Given the description of an element on the screen output the (x, y) to click on. 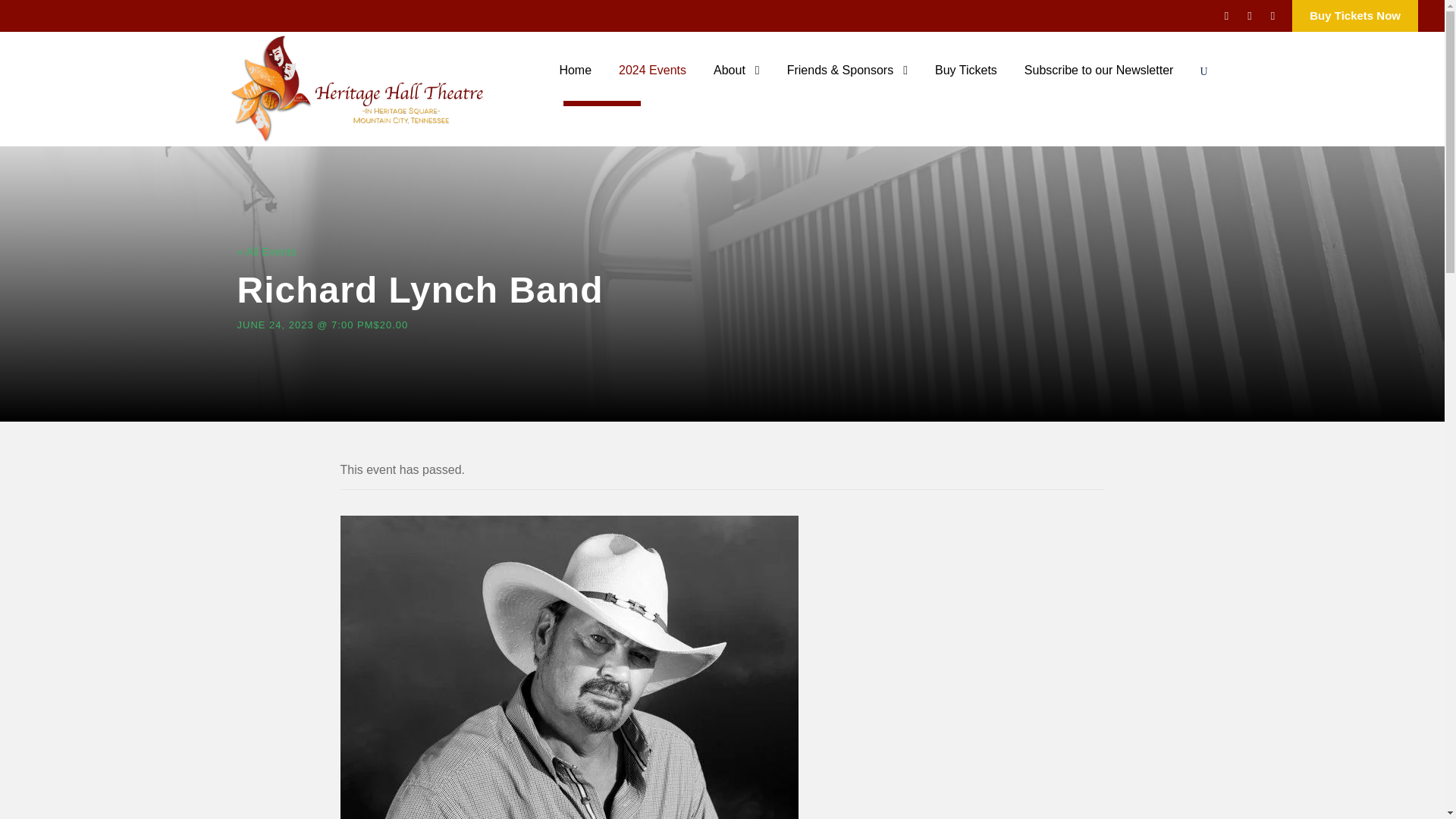
About (736, 81)
Home (575, 81)
instagram (1273, 15)
Buy Tickets Now (1355, 16)
2024 Events (651, 81)
twitter (1248, 15)
facebook (1226, 15)
